Given the description of an element on the screen output the (x, y) to click on. 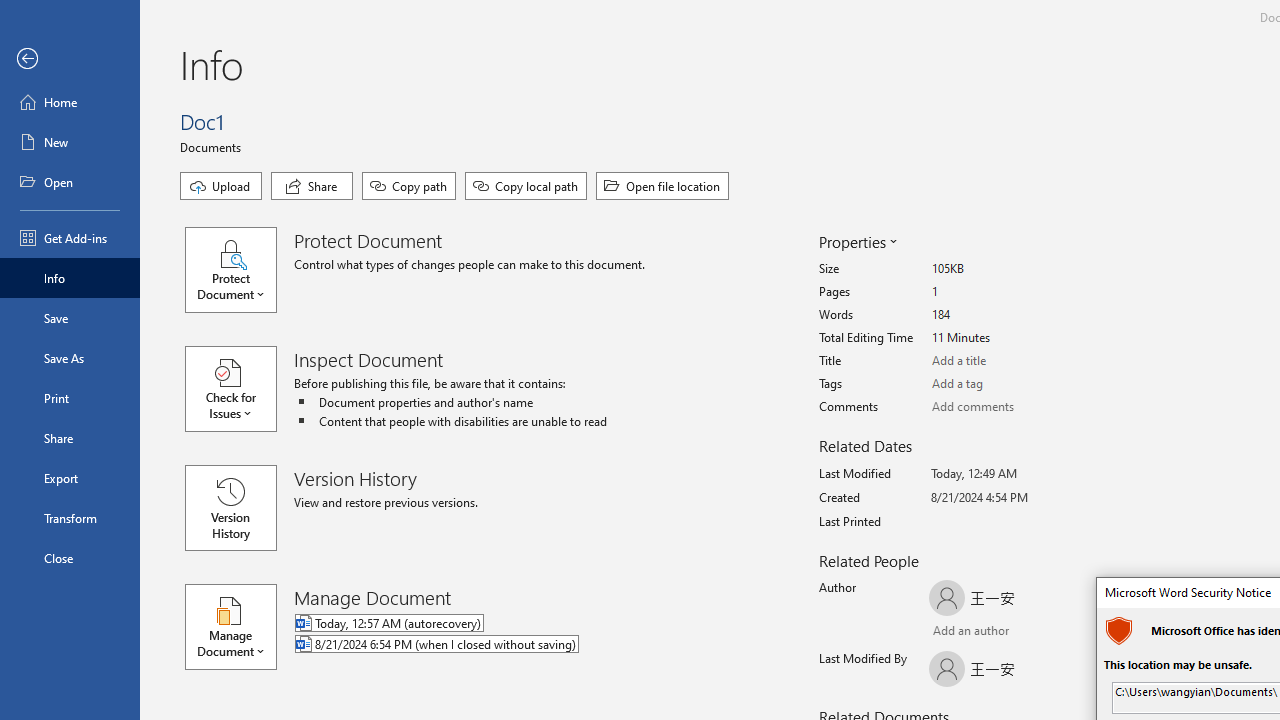
Documents (213, 146)
Browse Address Book (1047, 633)
Share (312, 186)
Save (69, 317)
Info (69, 277)
Title (1006, 361)
Open (69, 182)
Tags (1006, 384)
Add an author (949, 632)
Copy local path (525, 186)
Pages (1006, 291)
Back (69, 59)
Comments (1006, 407)
 Today, 12:57 AM (autorecovery) (518, 624)
Verify Names (983, 632)
